Given the description of an element on the screen output the (x, y) to click on. 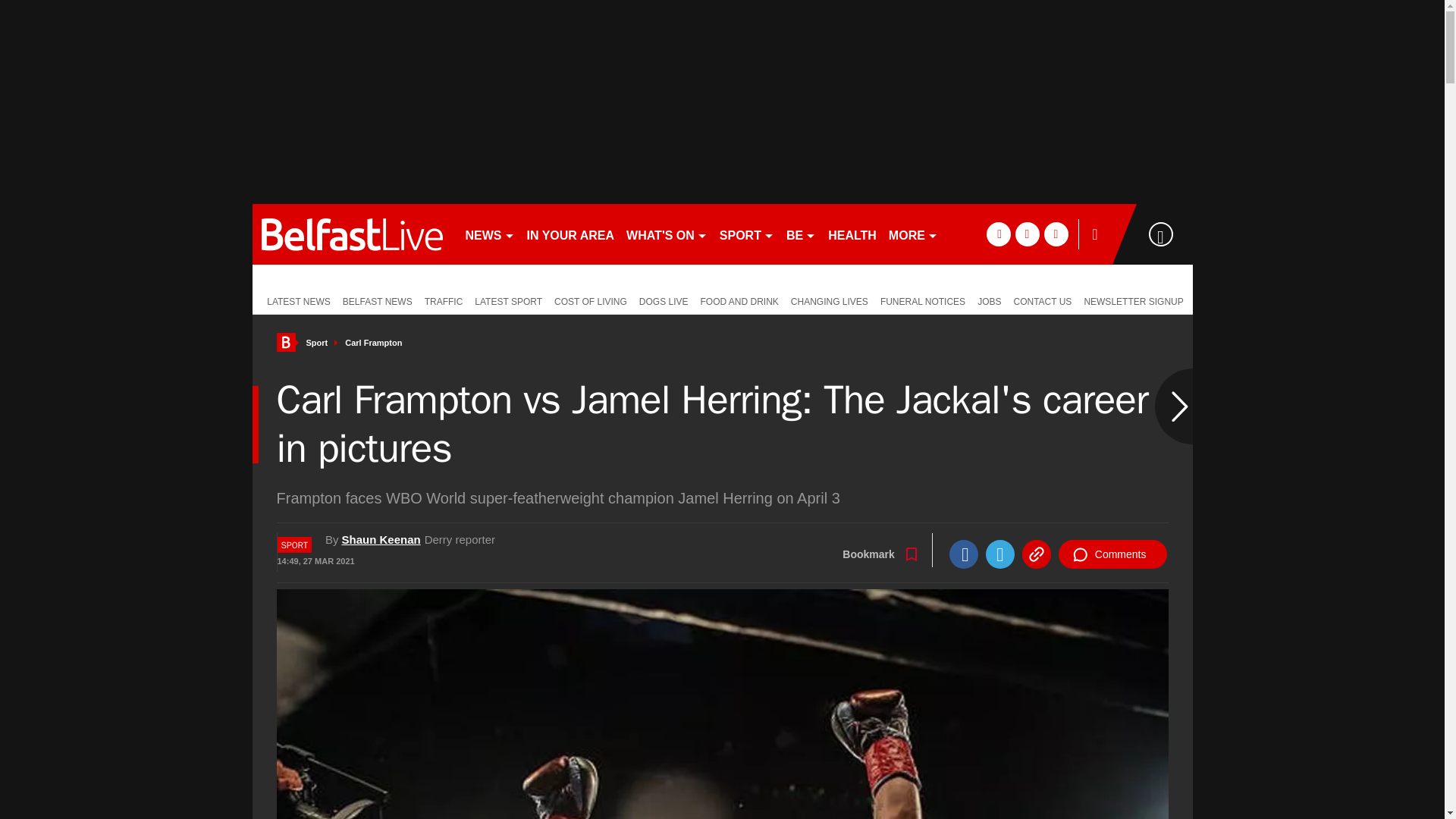
instagram (1055, 233)
IN YOUR AREA (569, 233)
Twitter (999, 553)
WHAT'S ON (666, 233)
Comments (1112, 553)
Facebook (963, 553)
facebook (997, 233)
NEWS (490, 233)
twitter (1026, 233)
belfastlive (351, 233)
SPORT (746, 233)
